Given the description of an element on the screen output the (x, y) to click on. 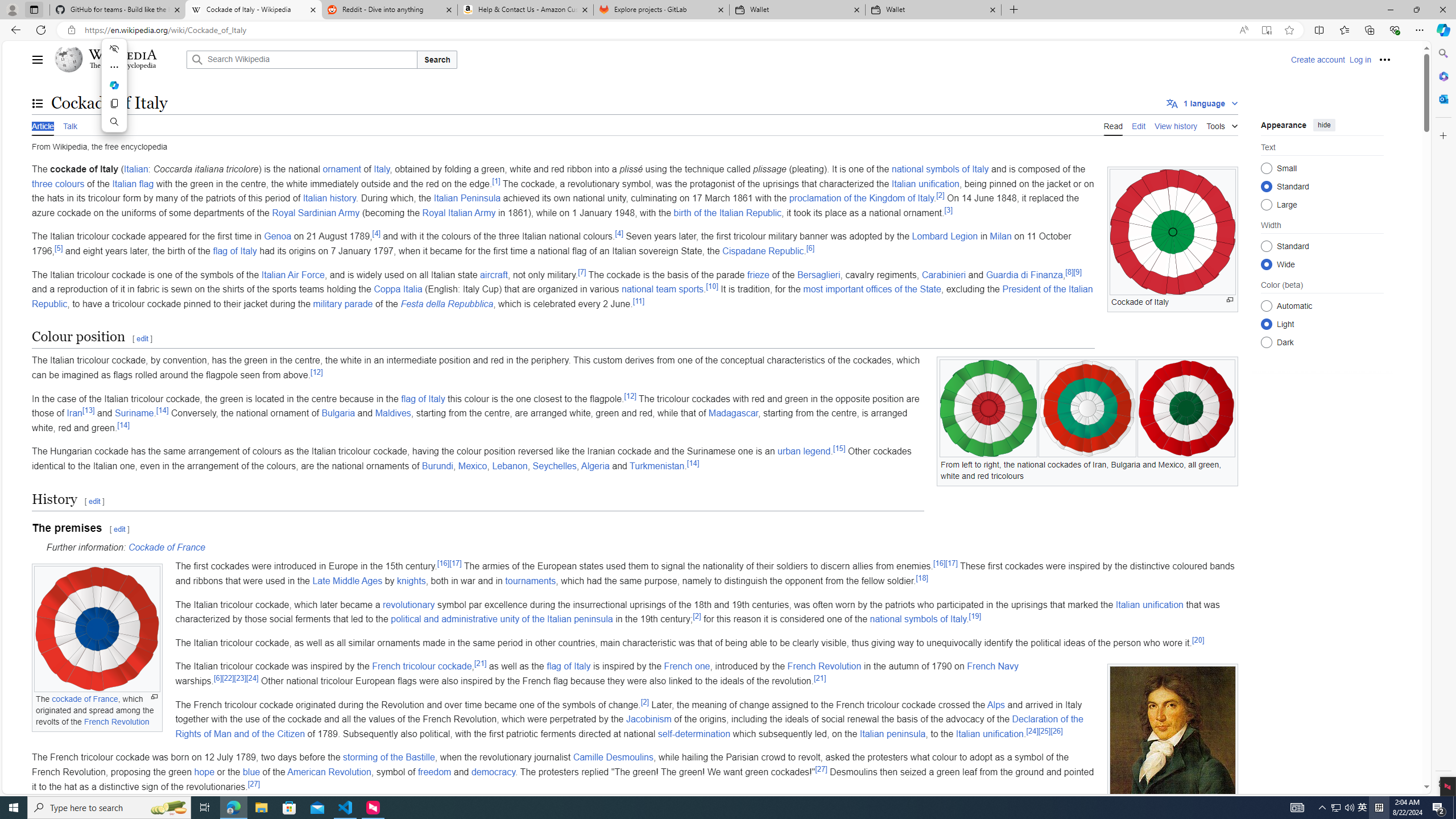
[8] (1069, 271)
Create account (1317, 58)
Late Middle Ages (346, 580)
[10] (711, 285)
Log in (1360, 58)
French tricolour cockade (421, 666)
French Navy (992, 666)
Article (42, 124)
Italian flag (133, 183)
knights (411, 580)
Help & Contact Us - Amazon Customer Service (525, 9)
